Given the description of an element on the screen output the (x, y) to click on. 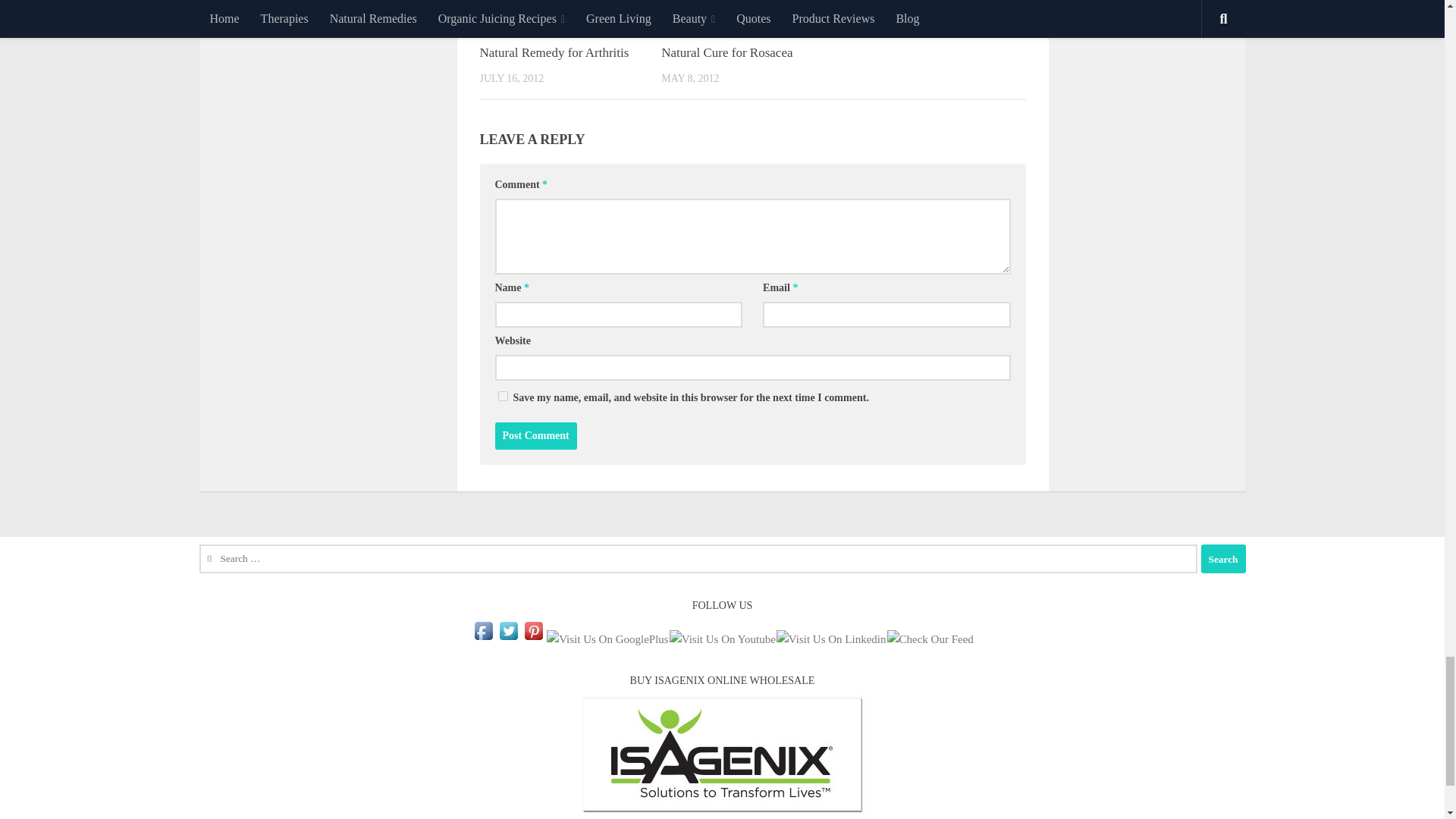
Search (1223, 558)
Visit Us On Pinterest (533, 639)
Visit Us On Youtube (722, 639)
Post Comment (535, 435)
yes (501, 396)
Search (1223, 558)
Visit Us On Twitter (508, 639)
Visit Us On Facebook (483, 639)
Visit Us On GooglePlus (607, 639)
